Given the description of an element on the screen output the (x, y) to click on. 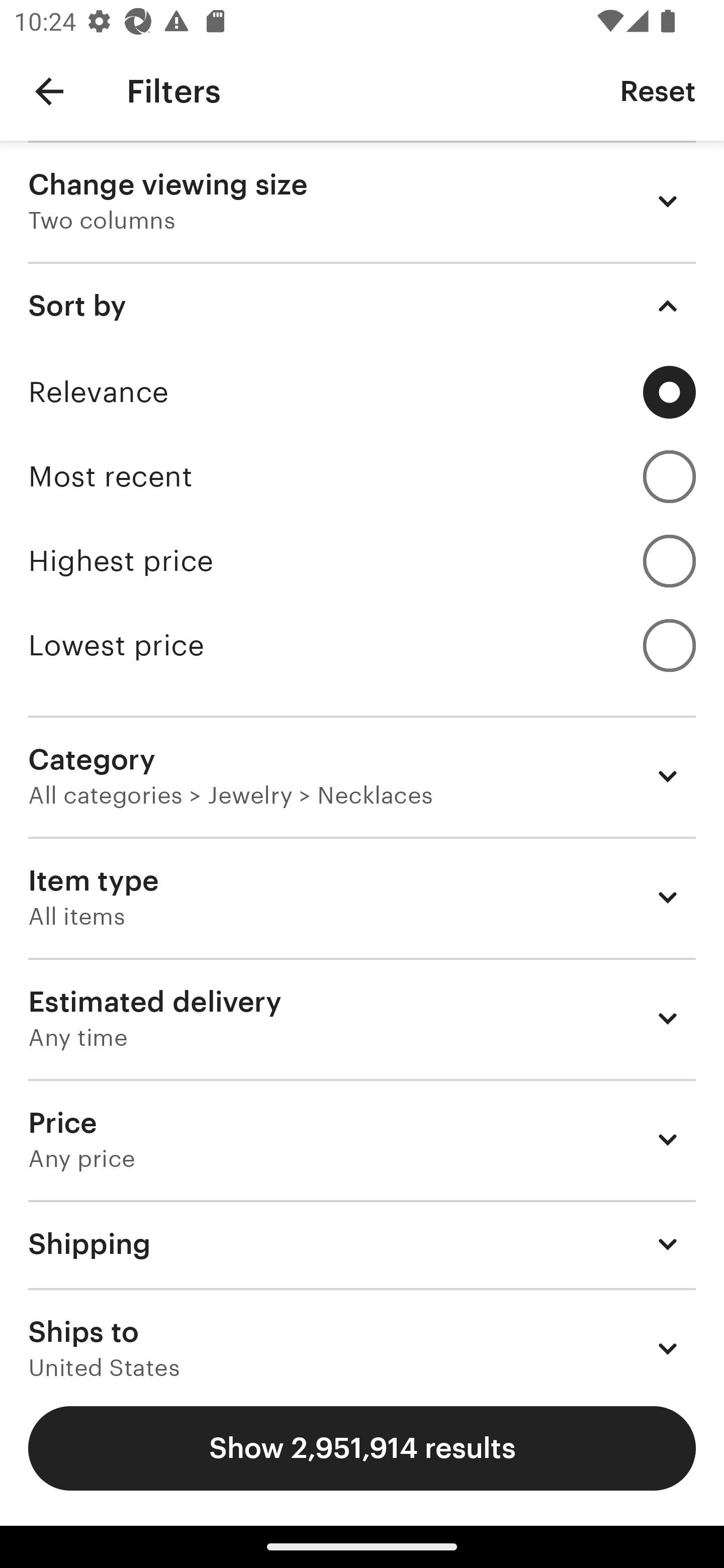
Navigate up (49, 91)
Reset (657, 90)
Change viewing size Two columns (362, 201)
Sort by (362, 305)
Relevance (362, 391)
Most recent (362, 476)
Highest price (362, 561)
Lowest price (362, 644)
Category All categories > Jewelry > Necklaces (362, 776)
Item type All items (362, 897)
Estimated delivery Any time (362, 1018)
Price Any price (362, 1138)
Shipping (362, 1243)
Ships to United States (362, 1332)
Show 2,951,914 results Show results (361, 1448)
